Given the description of an element on the screen output the (x, y) to click on. 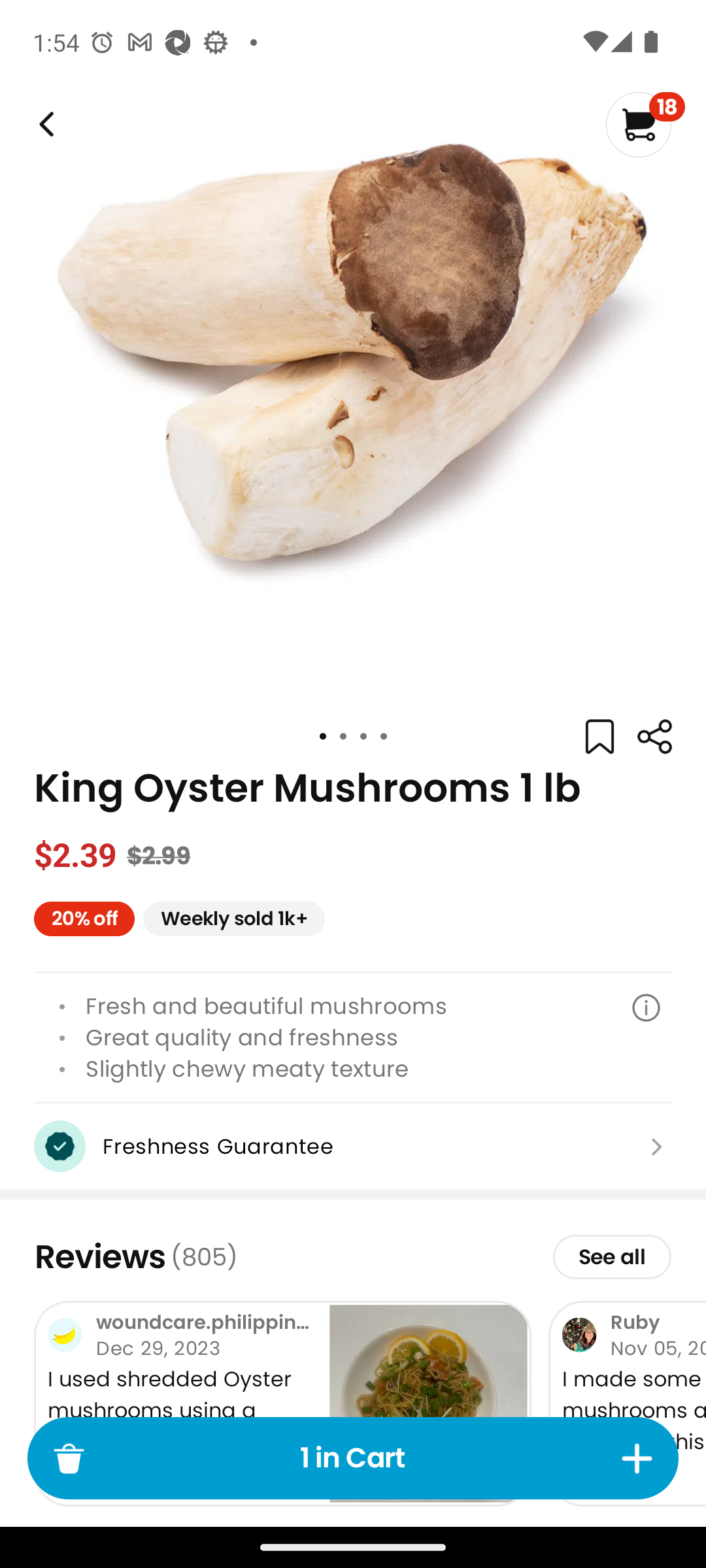
18 (644, 124)
Weee! (45, 124)
Weee! (653, 736)
Freshness Guarantee (352, 1145)
Reviews (805) See all (353, 1256)
1 in Cart (352, 1458)
